Given the description of an element on the screen output the (x, y) to click on. 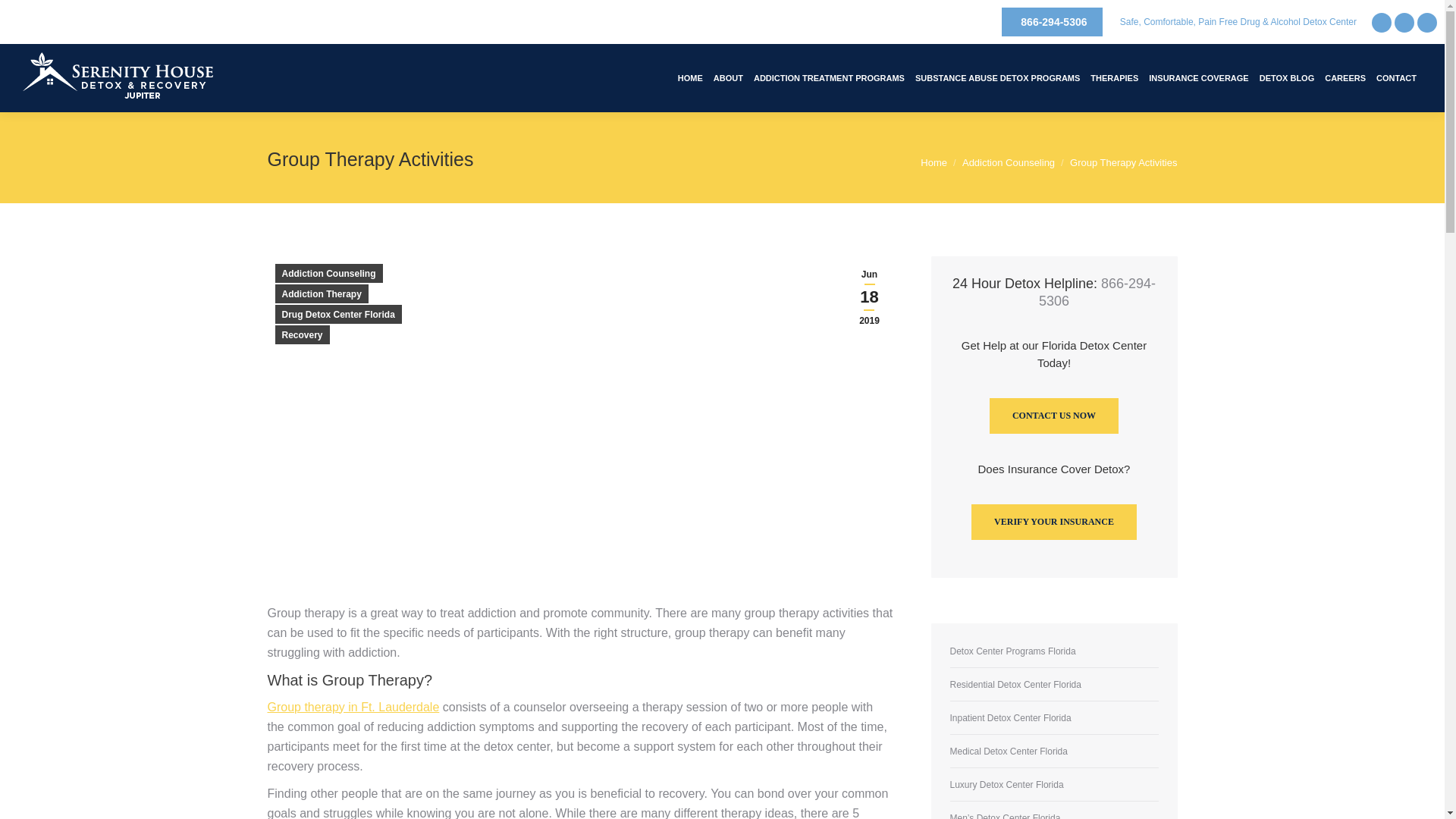
Home (689, 76)
Facebook page opens in new window (1381, 21)
Twitter page opens in new window (1403, 21)
ABOUT (727, 76)
HOME (689, 76)
ADDICTION TREATMENT PROGRAMS (829, 76)
866-294-5306 (1051, 21)
SUBSTANCE ABUSE DETOX PROGRAMS (997, 76)
Detox Programs (829, 76)
Twitter page opens in new window (1403, 21)
Facebook page opens in new window (1381, 21)
YouTube page opens in new window (1426, 21)
About Serenity House (727, 76)
YouTube page opens in new window (1426, 21)
